Given the description of an element on the screen output the (x, y) to click on. 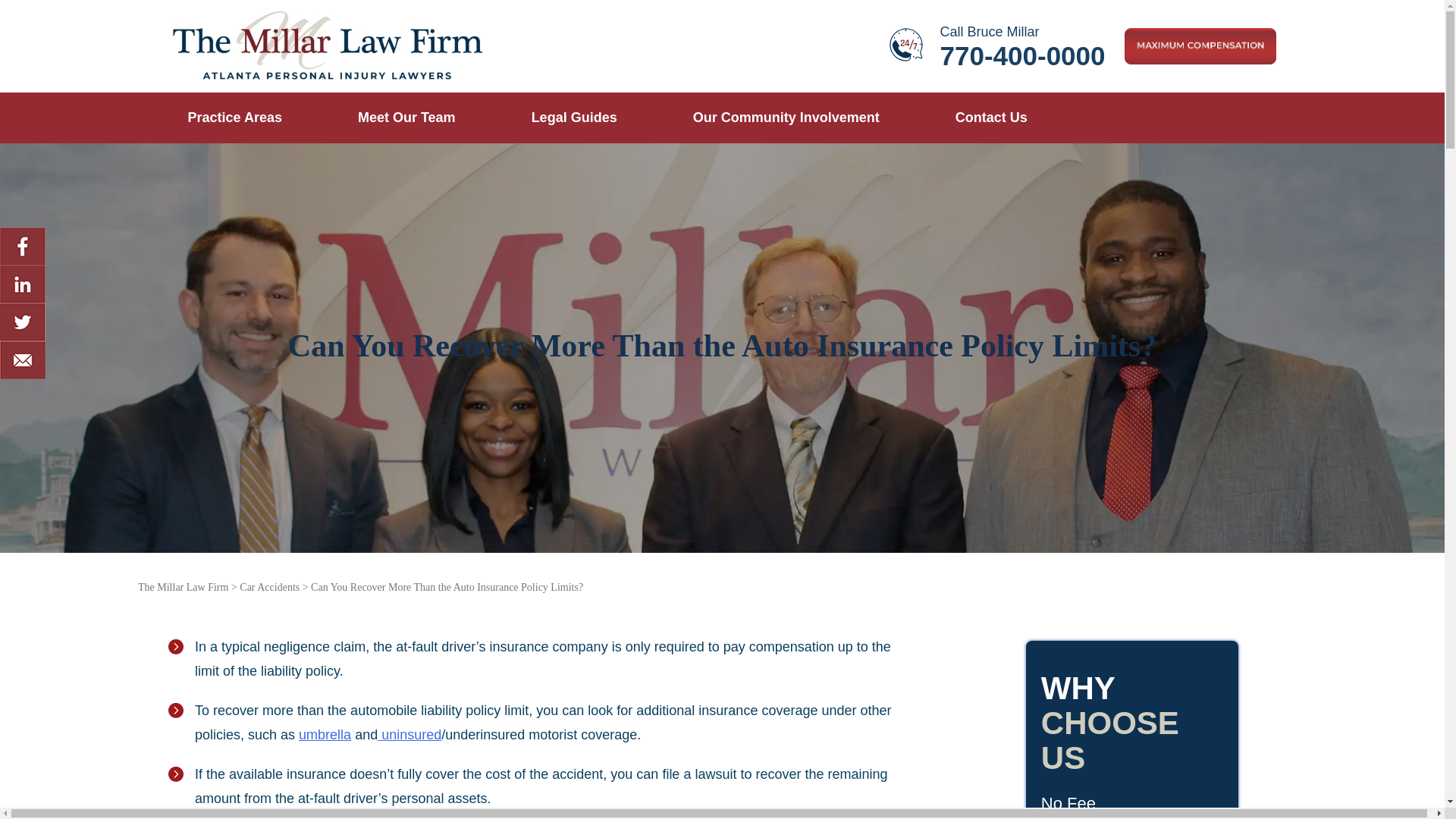
uninsured (409, 734)
Practice Areas (235, 117)
The Millar Law Firm (998, 45)
Legal Guides (183, 586)
umbrella (573, 117)
Contact Us (324, 734)
Meet Our Team (991, 117)
Car Accidents (406, 117)
Our Community Involvement (269, 586)
